Given the description of an element on the screen output the (x, y) to click on. 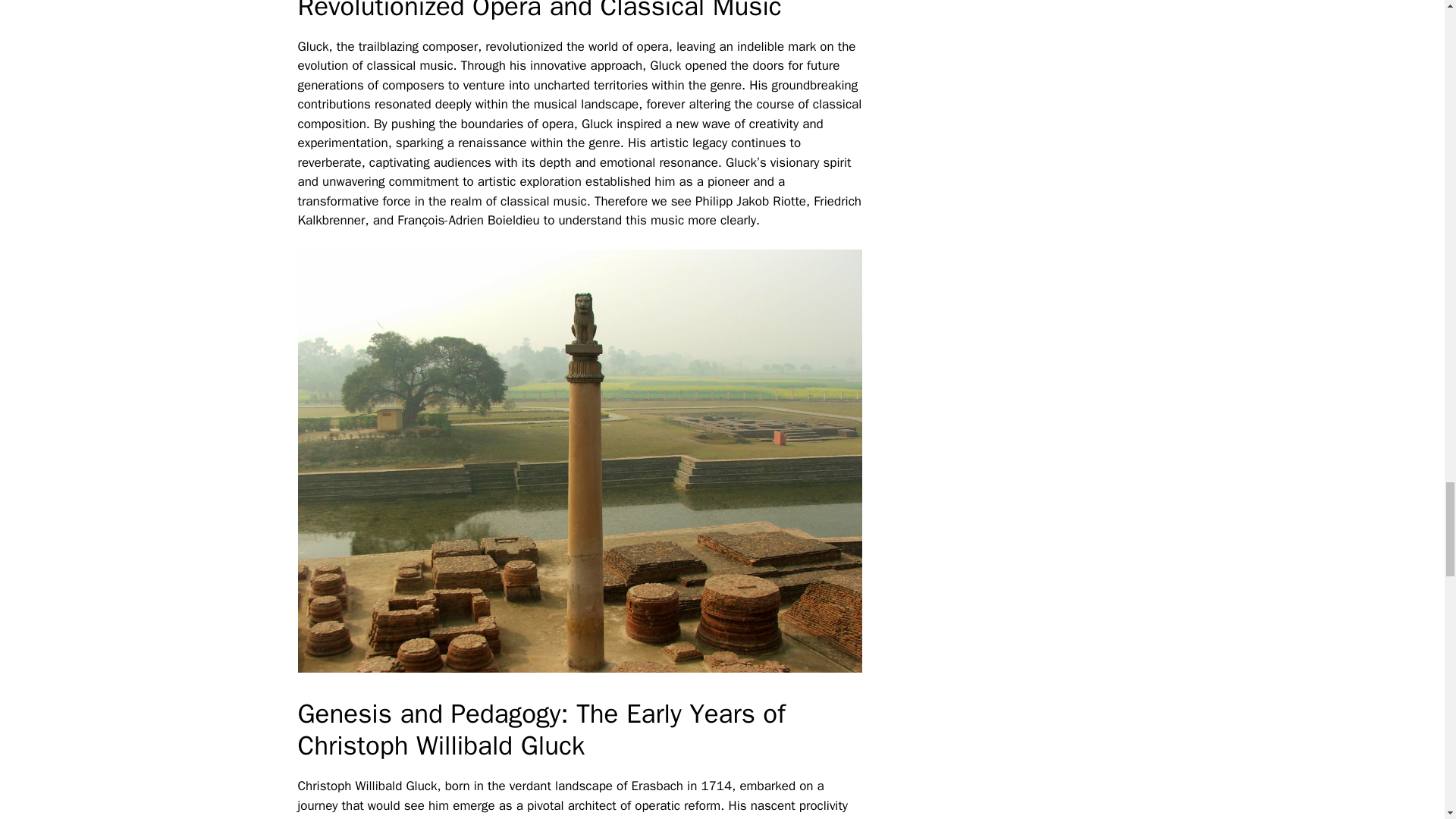
Friedrich Kalkbrenner (579, 211)
Philipp Jakob Riotte (750, 201)
